Given the description of an element on the screen output the (x, y) to click on. 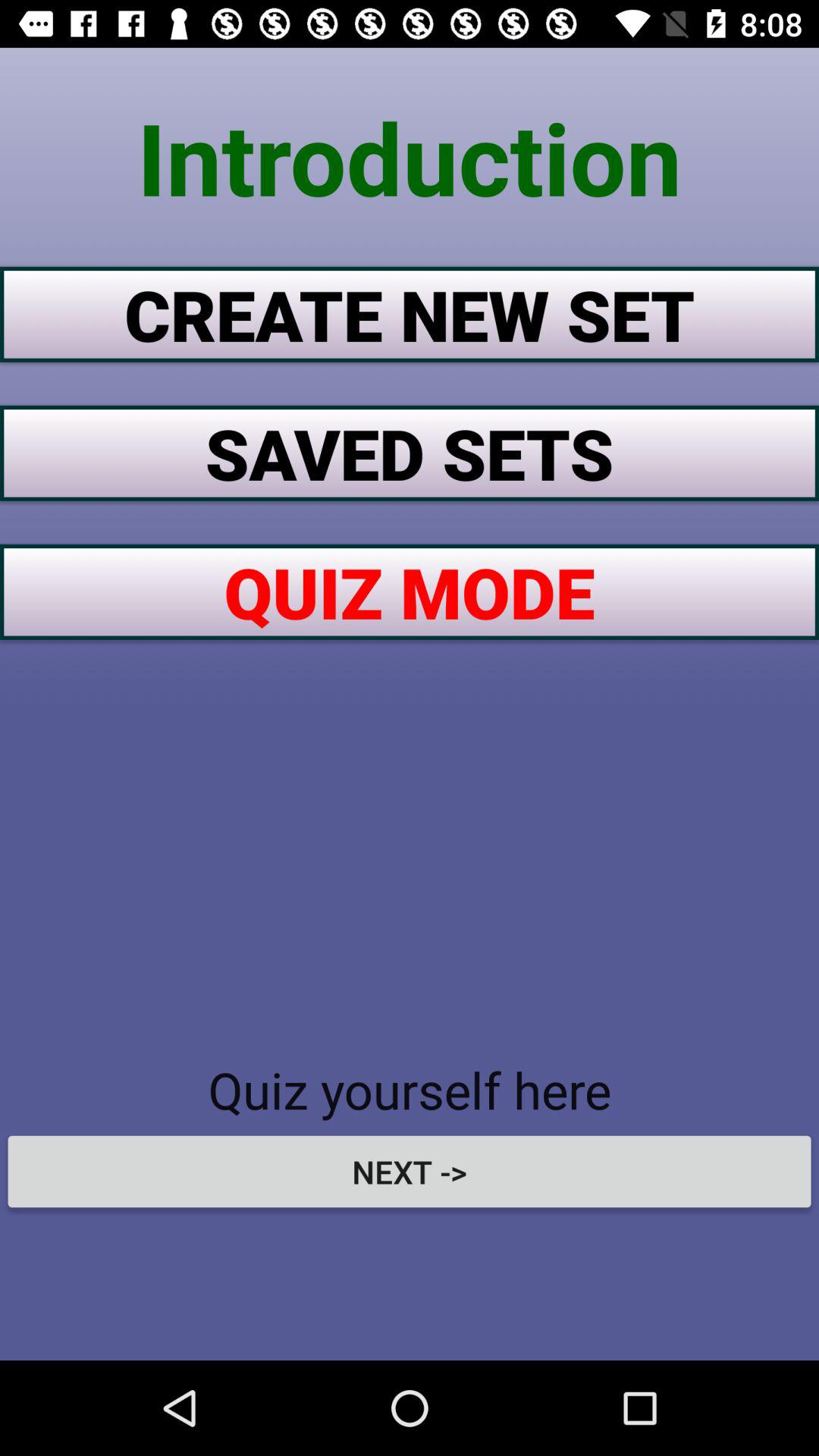
tap item above quiz yourself here icon (409, 591)
